Given the description of an element on the screen output the (x, y) to click on. 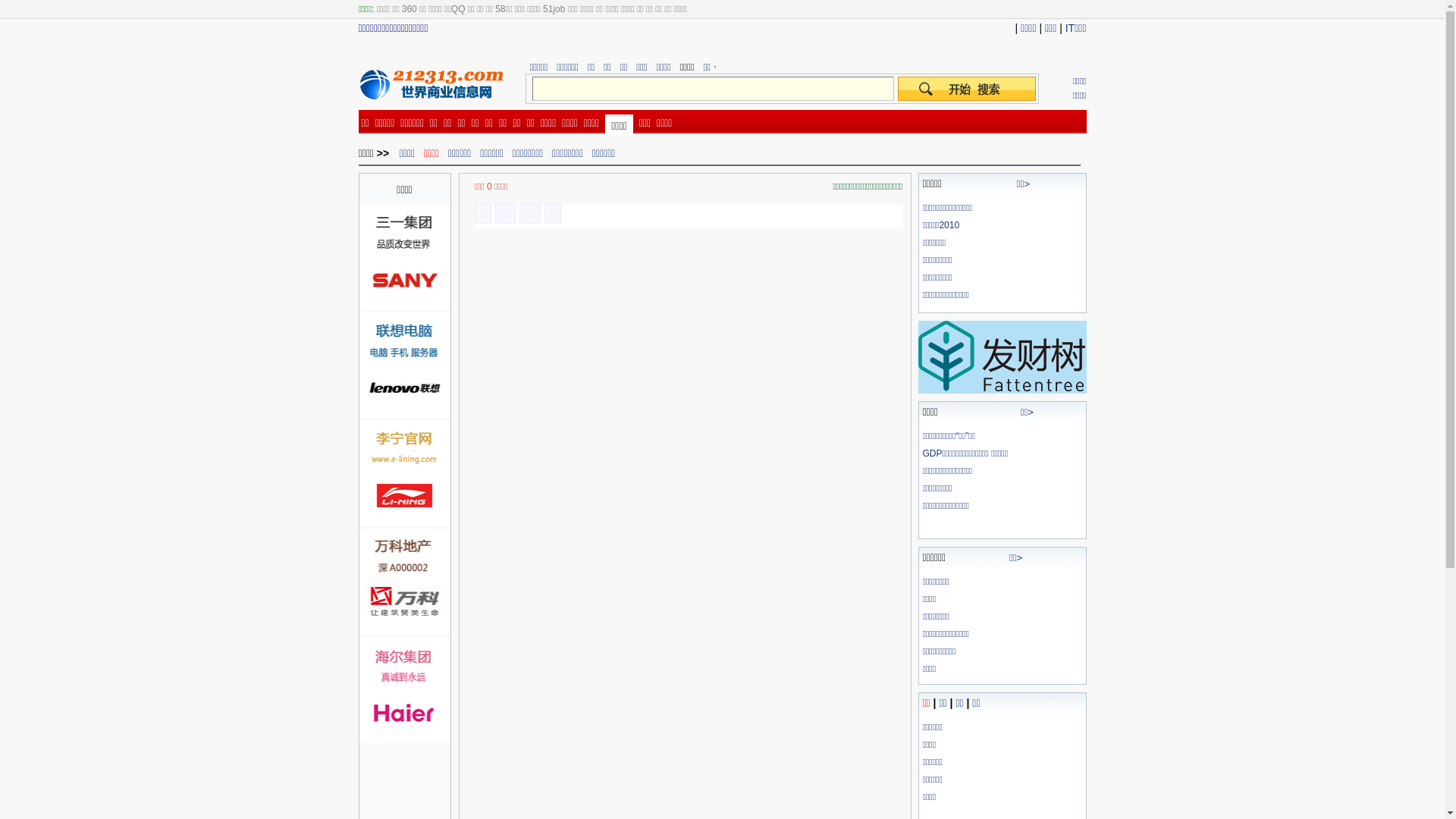
51job Element type: text (553, 8)
360 Element type: text (409, 8)
